Given the description of an element on the screen output the (x, y) to click on. 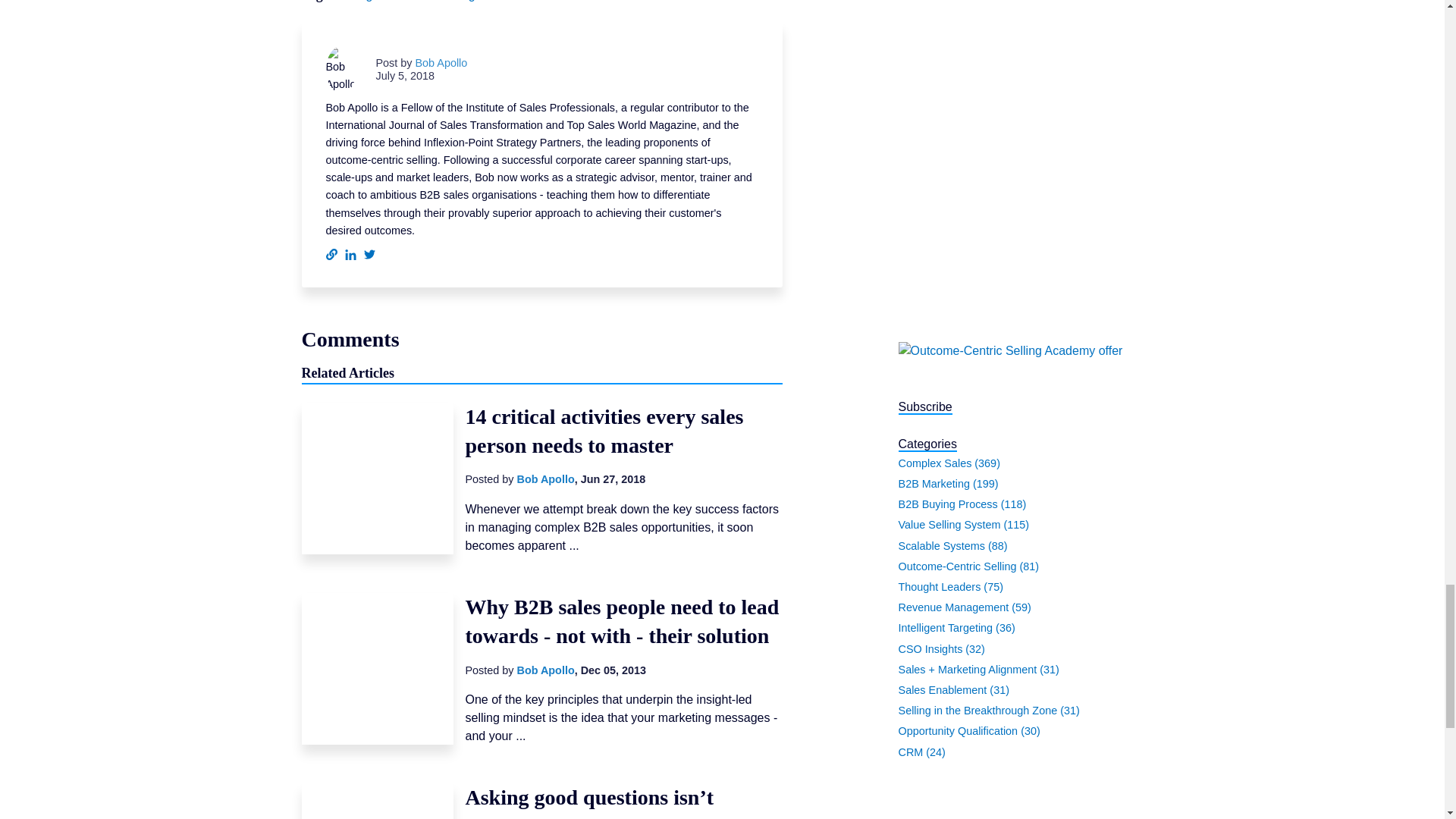
Follow me on my website (331, 254)
Bob Apollo (440, 62)
Follow me on Twitter (369, 254)
Follow me on LinkedIn (349, 254)
